Given the description of an element on the screen output the (x, y) to click on. 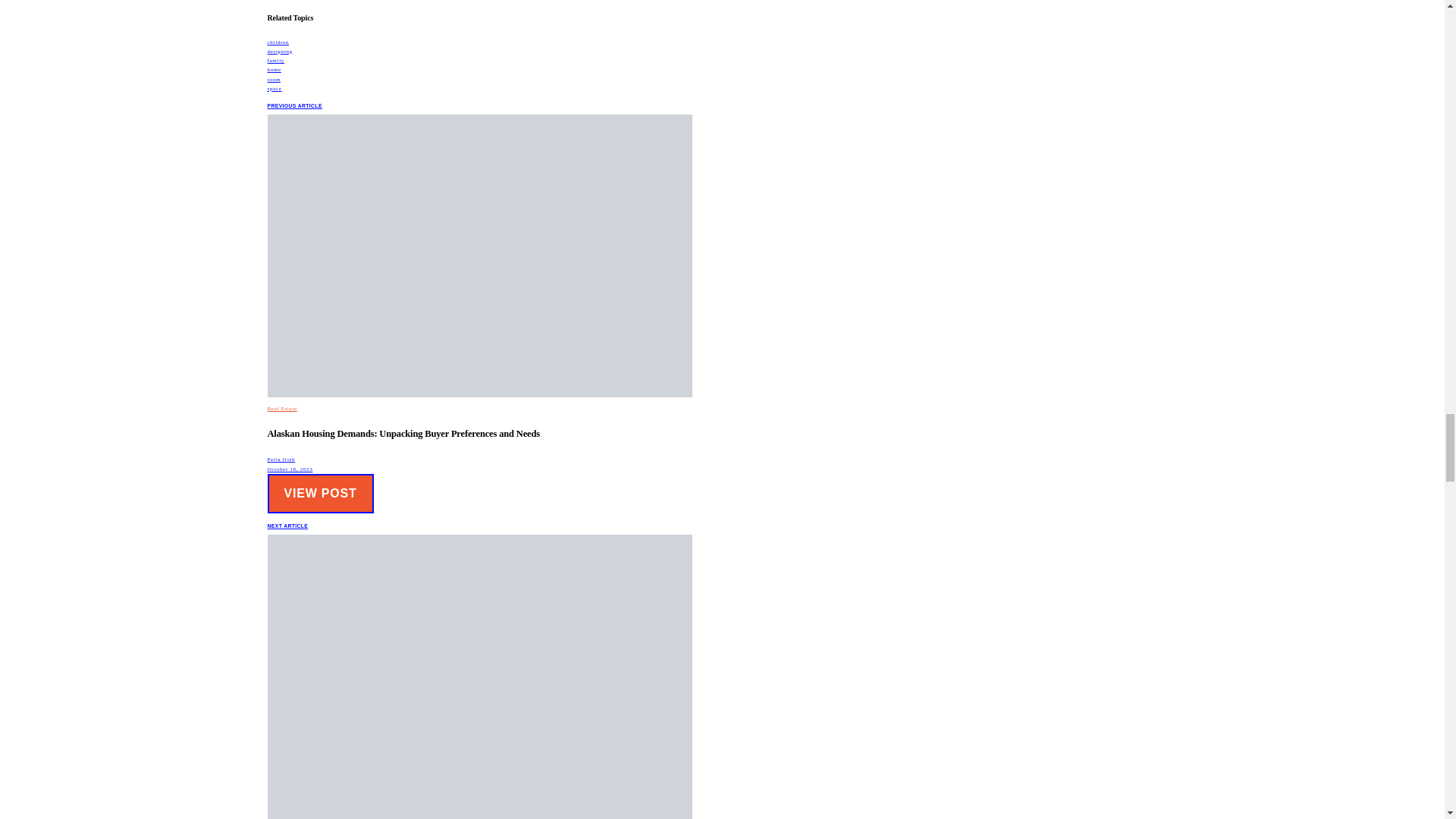
View all posts by Perla Irish (280, 459)
